Given the description of an element on the screen output the (x, y) to click on. 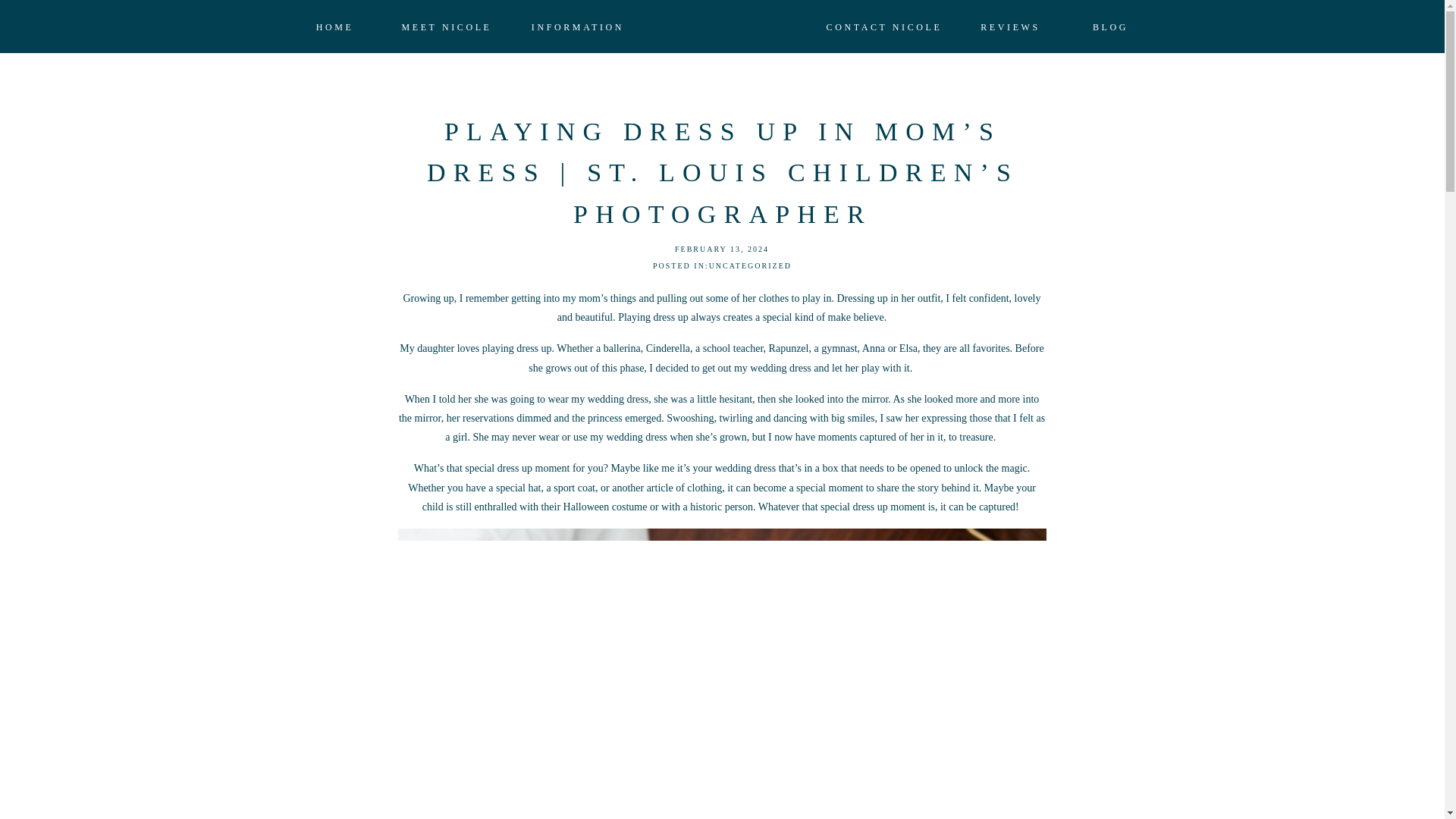
UNCATEGORIZED (750, 265)
HOME (334, 26)
INFORMATION (577, 26)
MEET NICOLE (446, 26)
CONTACT NICOLE (883, 26)
REVIEWS (1010, 26)
BLOG (1109, 26)
